Given the description of an element on the screen output the (x, y) to click on. 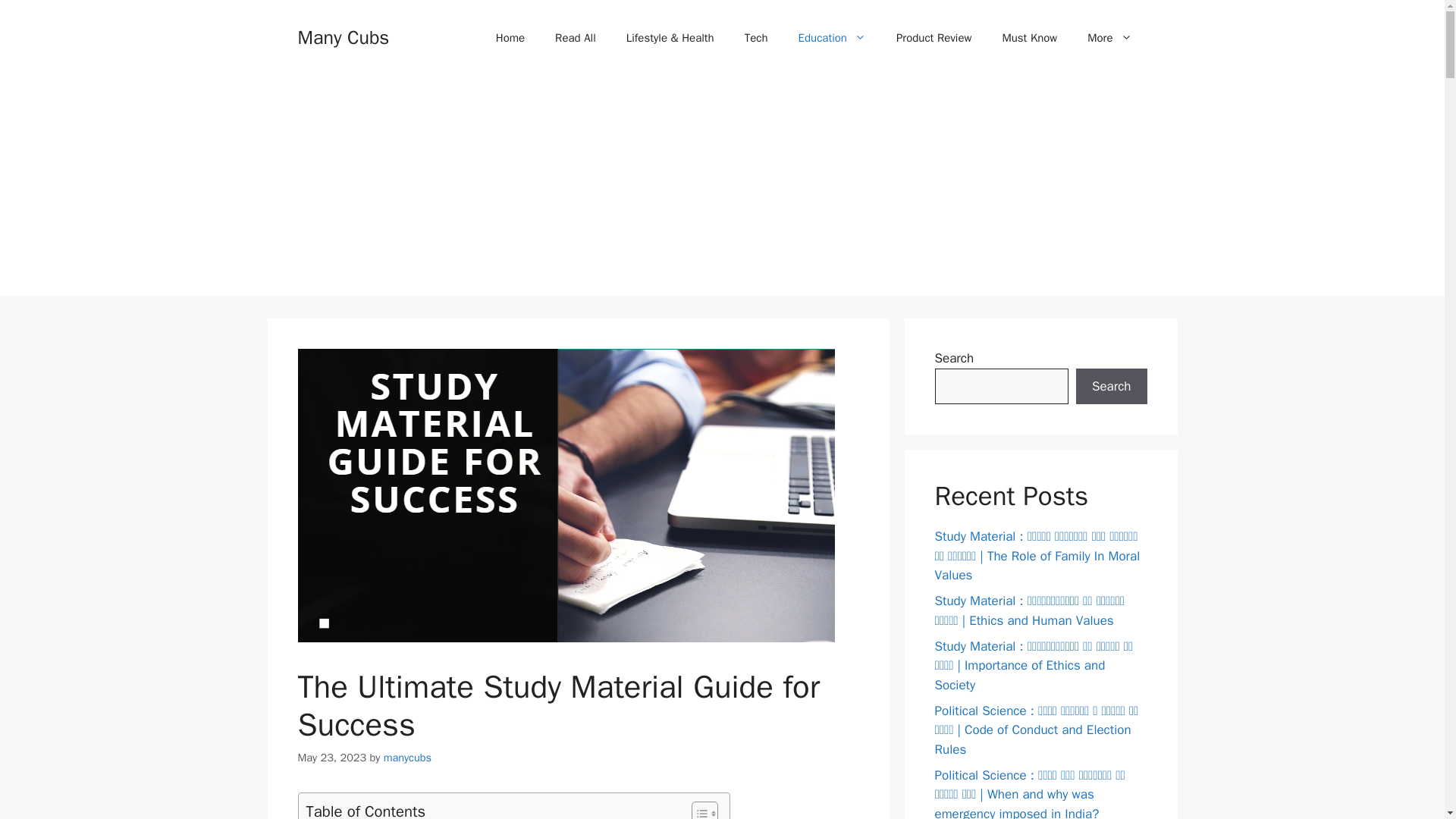
Education (831, 37)
Home (510, 37)
manycubs (407, 757)
Product Review (933, 37)
Read All (575, 37)
View all posts by manycubs (407, 757)
Must Know (1029, 37)
Many Cubs (342, 37)
More (1109, 37)
Tech (756, 37)
